Given the description of an element on the screen output the (x, y) to click on. 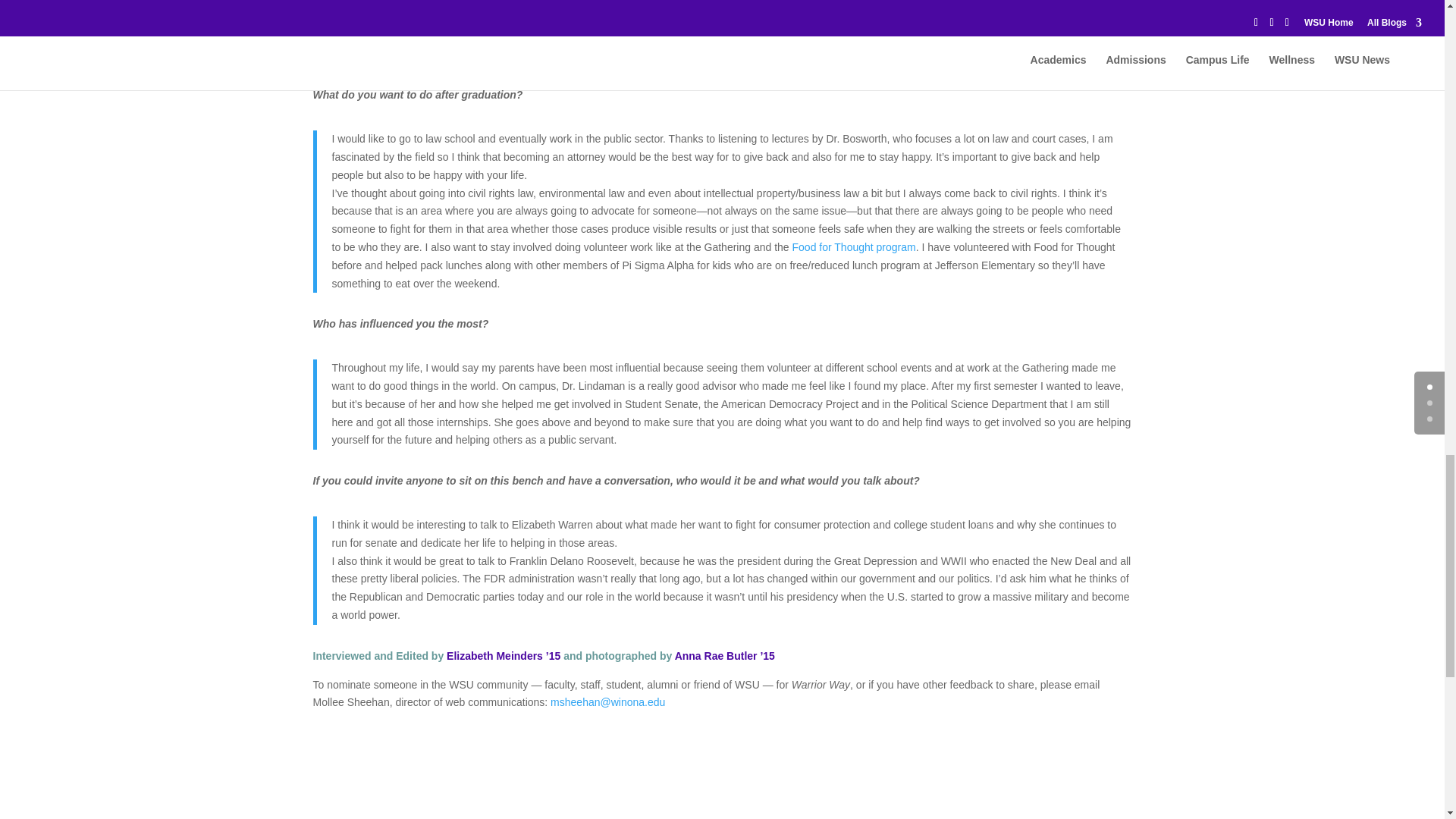
Warrior Way (607, 702)
Food for Thought program (853, 246)
